Given the description of an element on the screen output the (x, y) to click on. 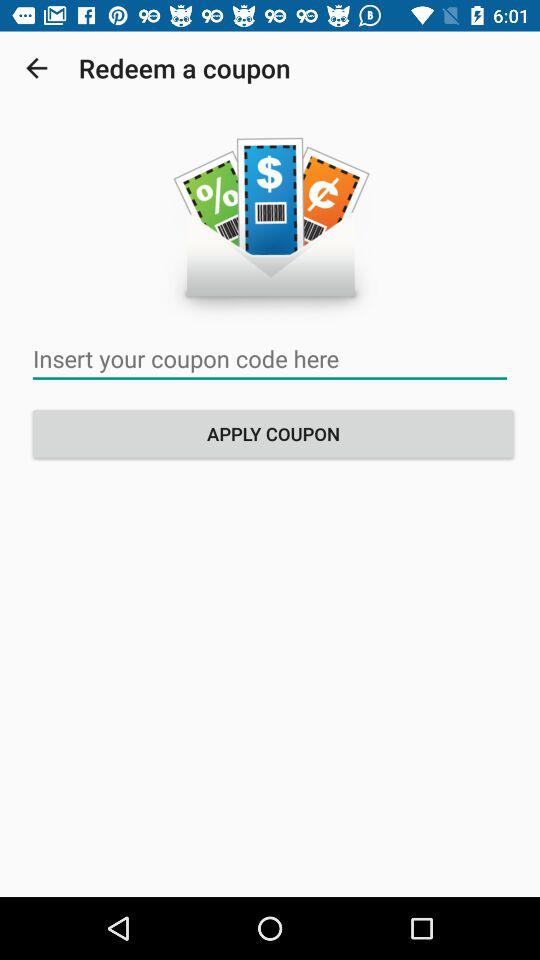
swipe to the apply coupon (273, 433)
